Given the description of an element on the screen output the (x, y) to click on. 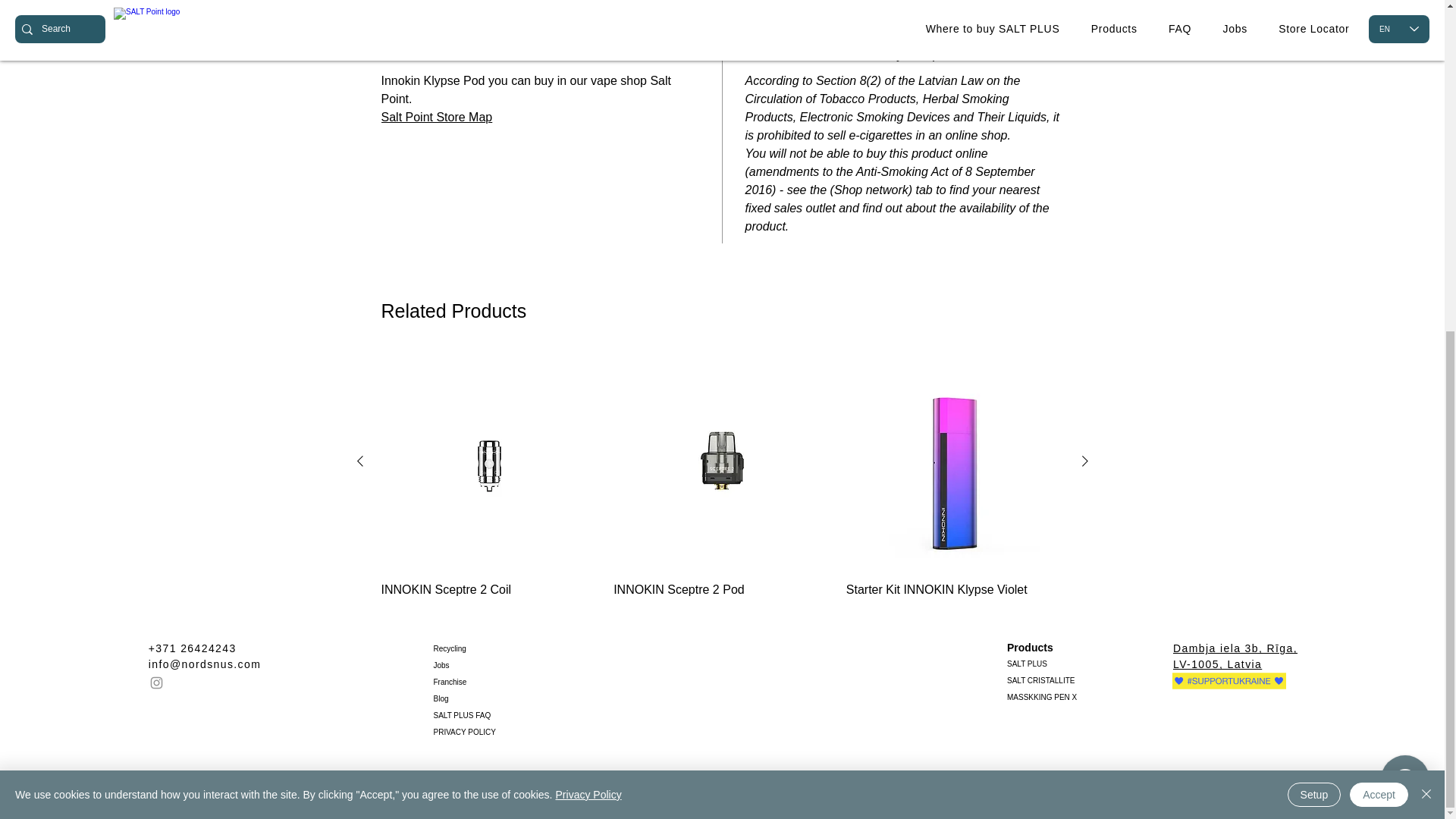
Salt Point Store Map (436, 116)
INNOKIN Sceptre 2 Coil (489, 598)
INNOKIN Sceptre 2 Pod (721, 598)
Starter Kit INNOKIN Klypse Violet (954, 598)
